Given the description of an element on the screen output the (x, y) to click on. 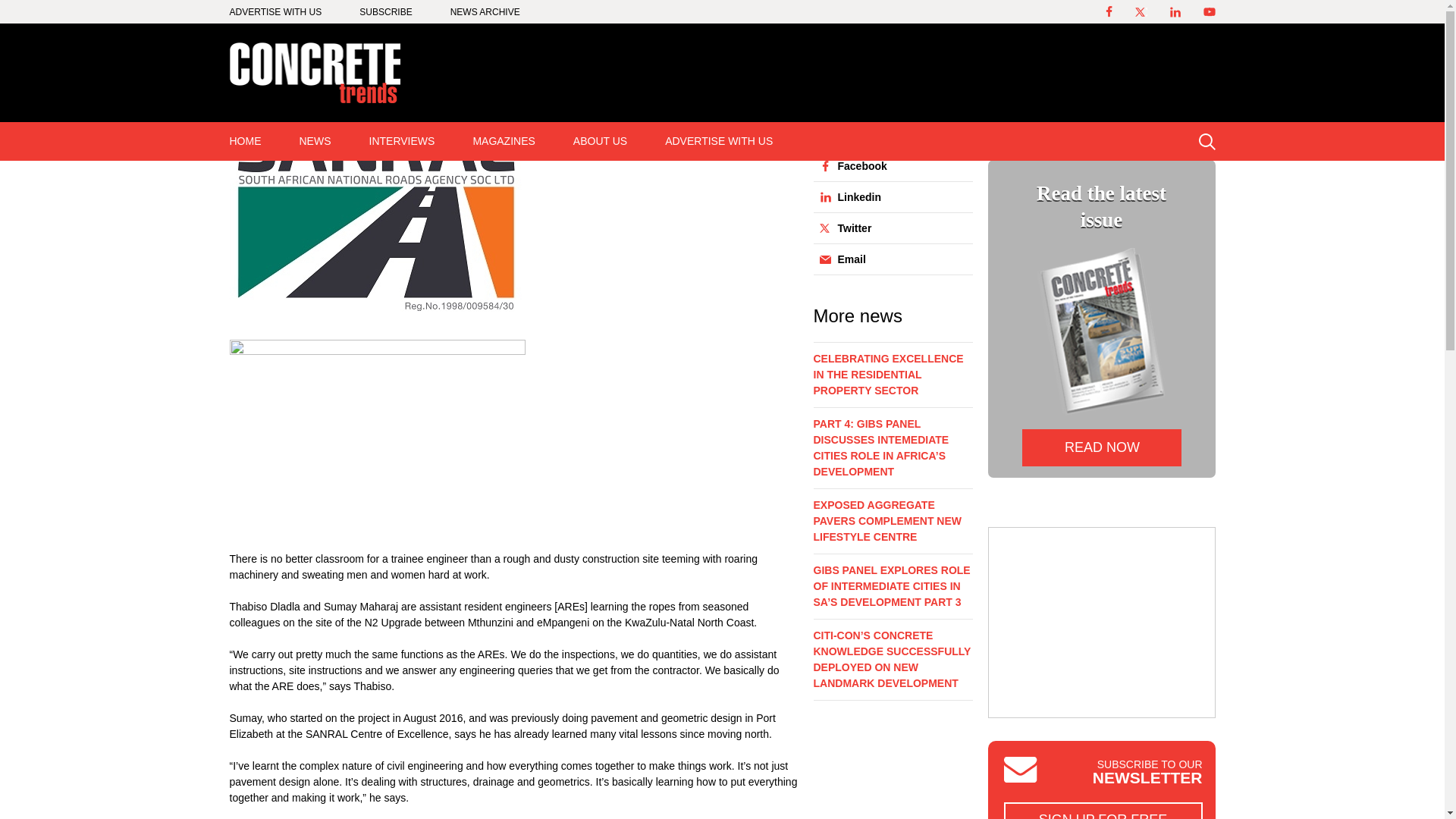
MAGAZINES (502, 141)
Twitter (887, 227)
Email (887, 259)
Linkedin (887, 196)
HOME (246, 141)
NEWS ARCHIVE (484, 11)
EXPOSED AGGREGATE PAVERS COMPLEMENT NEW LIFESTYLE CENTRE (892, 525)
INTERVIEWS (402, 141)
ADVERTISE WITH US (274, 11)
Share by Email (887, 259)
ADVERTISE WITH US (719, 141)
Facebook (887, 165)
NEWS (315, 141)
ABOUT US (600, 141)
CELEBRATING EXCELLENCE IN THE RESIDENTIAL PROPERTY SECTOR (892, 379)
